Given the description of an element on the screen output the (x, y) to click on. 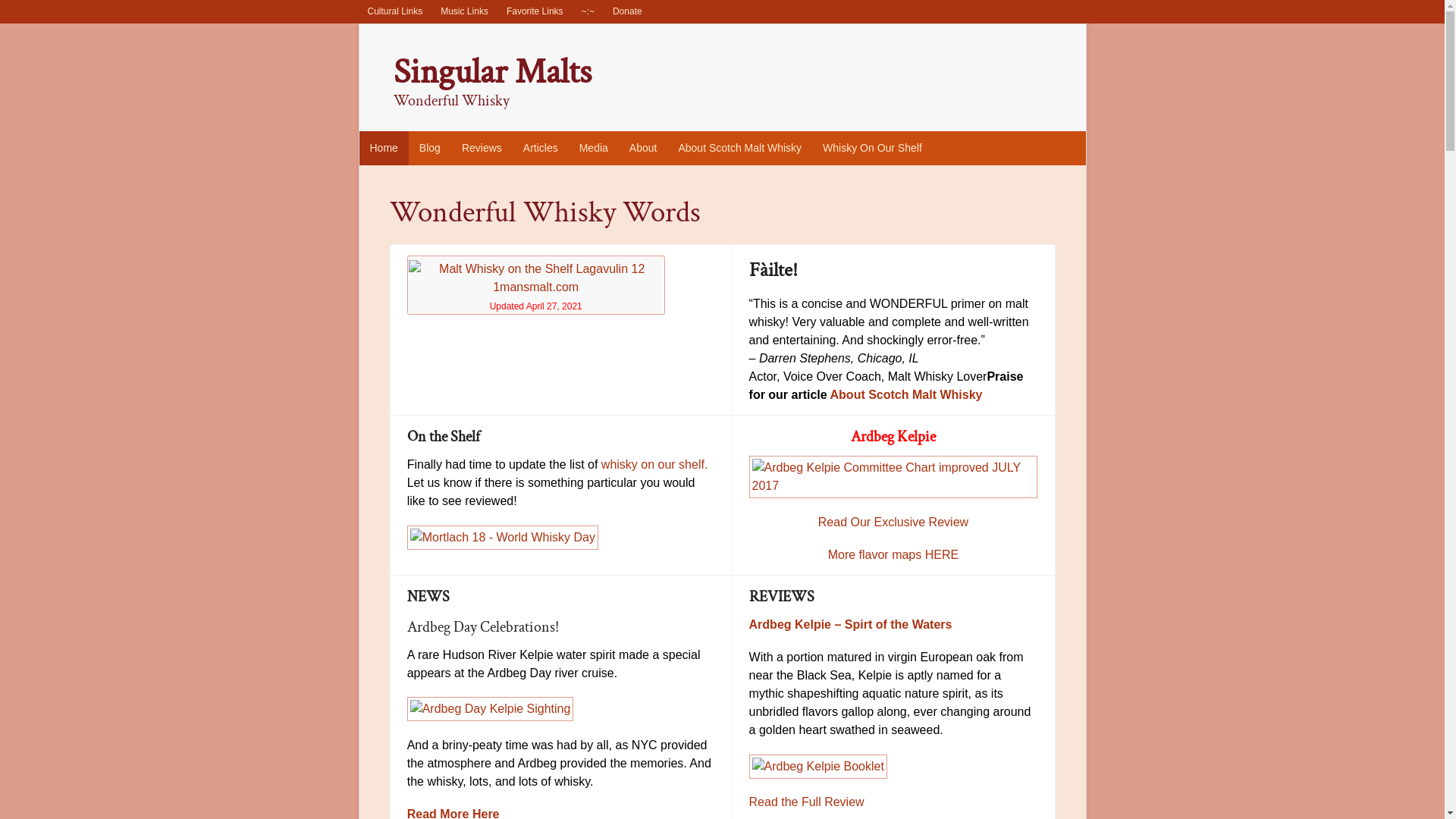
Singular Malts Element type: text (491, 71)
Blog Element type: text (429, 148)
Music Links Element type: text (464, 11)
About Element type: text (643, 148)
About Scotch Malt Whisky Element type: text (739, 148)
Home Element type: text (383, 148)
Media Element type: text (593, 148)
~:~ Element type: text (587, 11)
Read the Full Review Element type: text (806, 801)
Whisky On Our Shelf Element type: text (872, 148)
Read Our Exclusive Review Element type: text (893, 521)
Articles Element type: text (540, 148)
whisky on our shelf. Element type: text (654, 464)
About Scotch Malt Whisky Element type: text (906, 394)
Favorite Links Element type: text (534, 11)
Cultural Links Element type: text (394, 11)
Donate Element type: text (627, 11)
Reviews Element type: text (481, 148)
More flavor maps HERE Element type: text (893, 554)
